Given the description of an element on the screen output the (x, y) to click on. 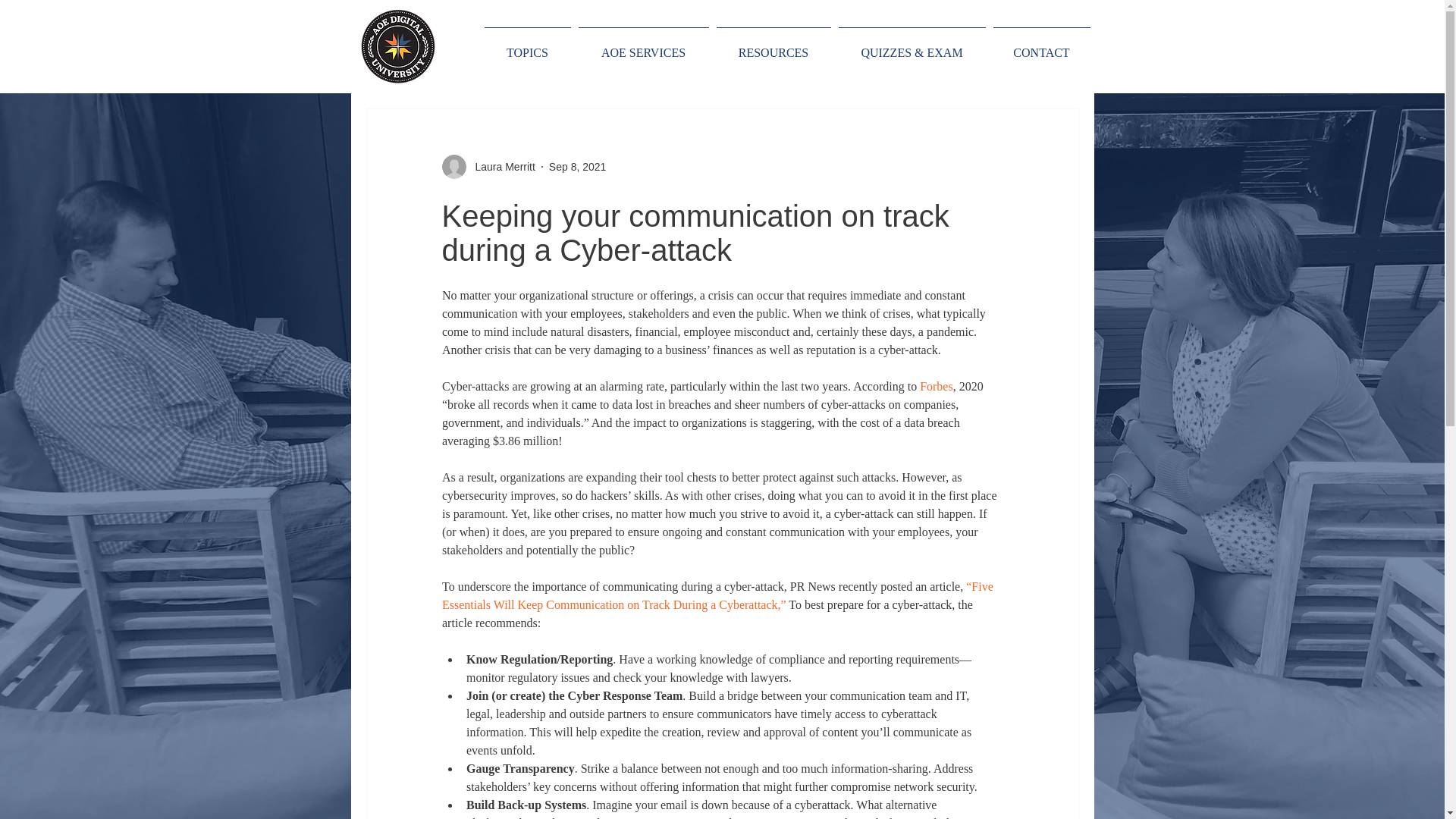
Laura Merritt (499, 166)
Sep 8, 2021 (577, 166)
Forbes (936, 386)
CONTACT (1040, 46)
